Given the description of an element on the screen output the (x, y) to click on. 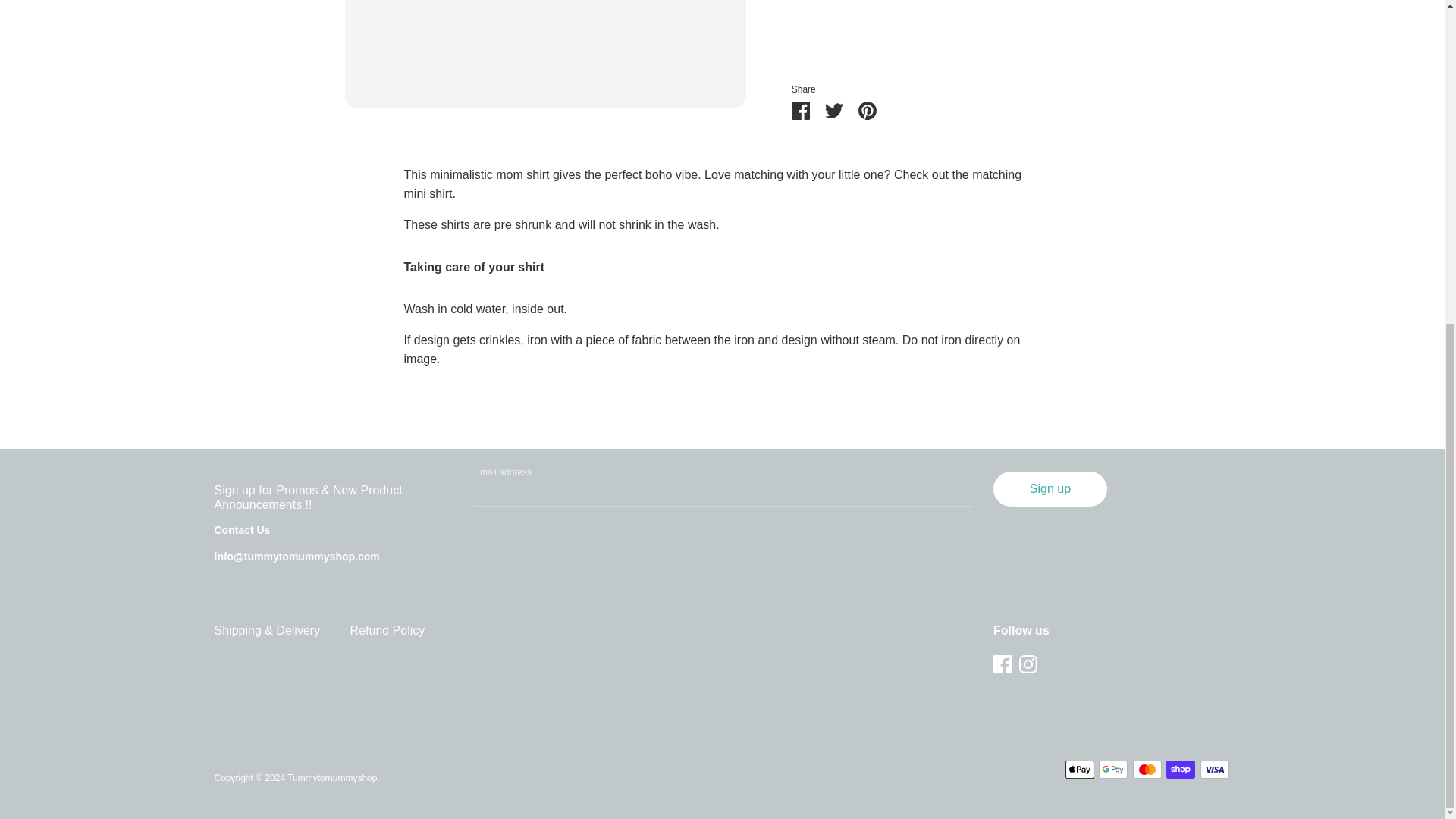
Mastercard (1146, 769)
Shop Pay (1180, 769)
Apple Pay (1079, 769)
Google Pay (1112, 769)
Visa (1213, 769)
